Given the description of an element on the screen output the (x, y) to click on. 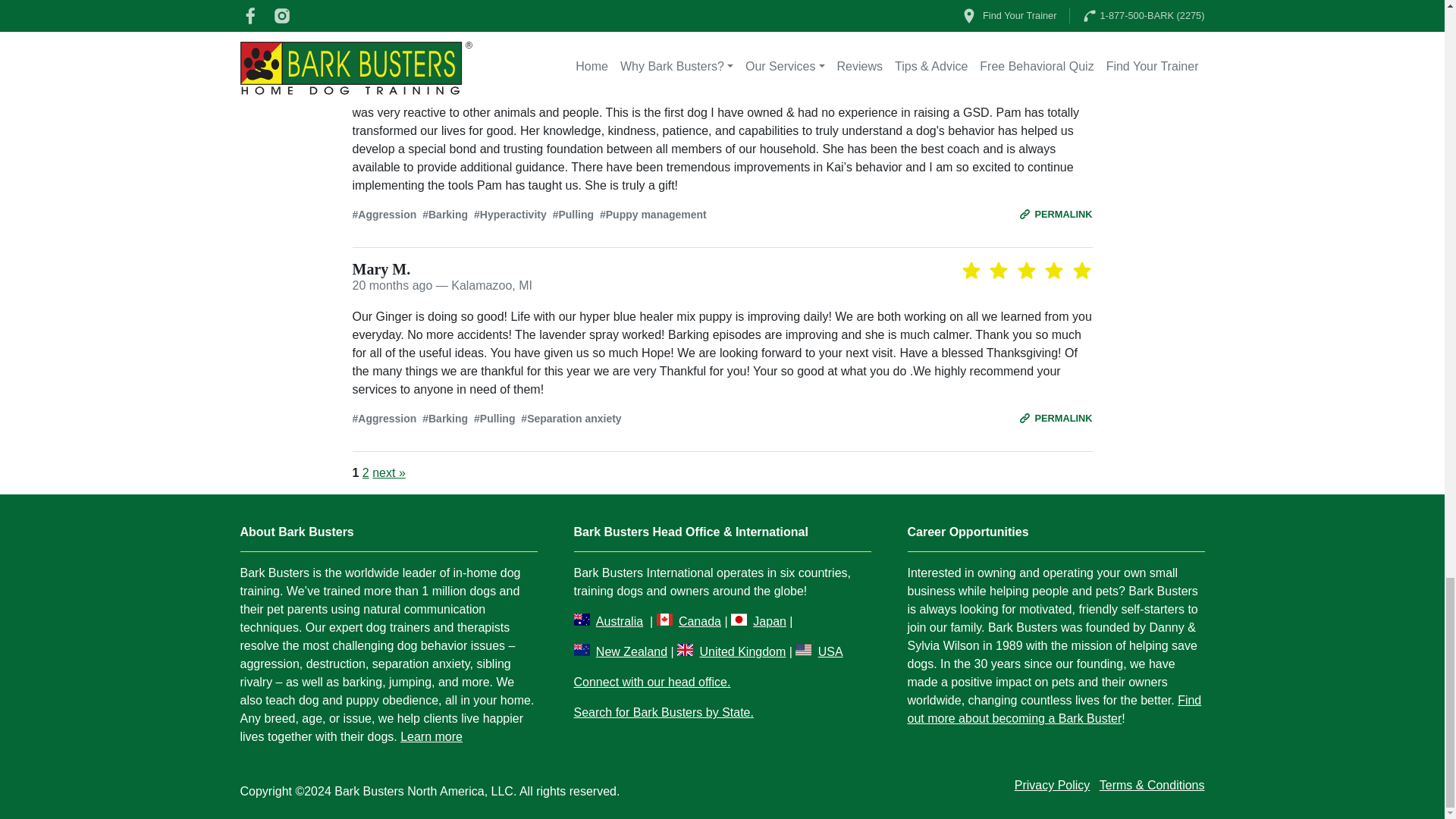
2 (365, 472)
PERMALINK (1056, 418)
PERMALINK (1056, 214)
